Given the description of an element on the screen output the (x, y) to click on. 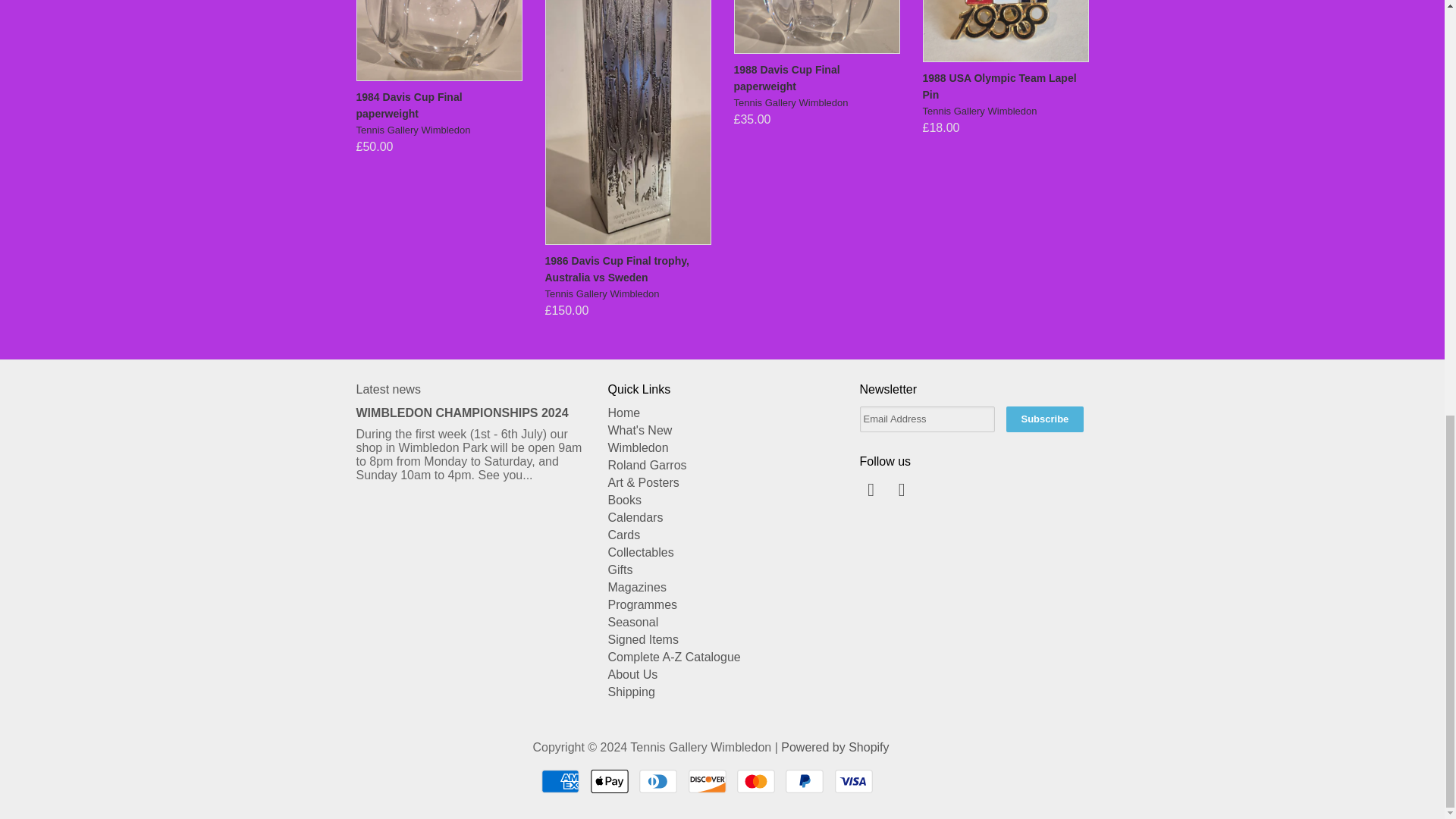
Programmes (643, 604)
Books (625, 499)
Signed Items (643, 639)
What's New (640, 430)
Home (624, 412)
Wimbledon (638, 447)
Subscribe (1044, 419)
Gifts (620, 569)
Magazines (637, 586)
Calendars (635, 517)
Cards (624, 534)
Roland Garros (647, 464)
Collectables (641, 552)
Seasonal (633, 621)
About Us (633, 674)
